Given the description of an element on the screen output the (x, y) to click on. 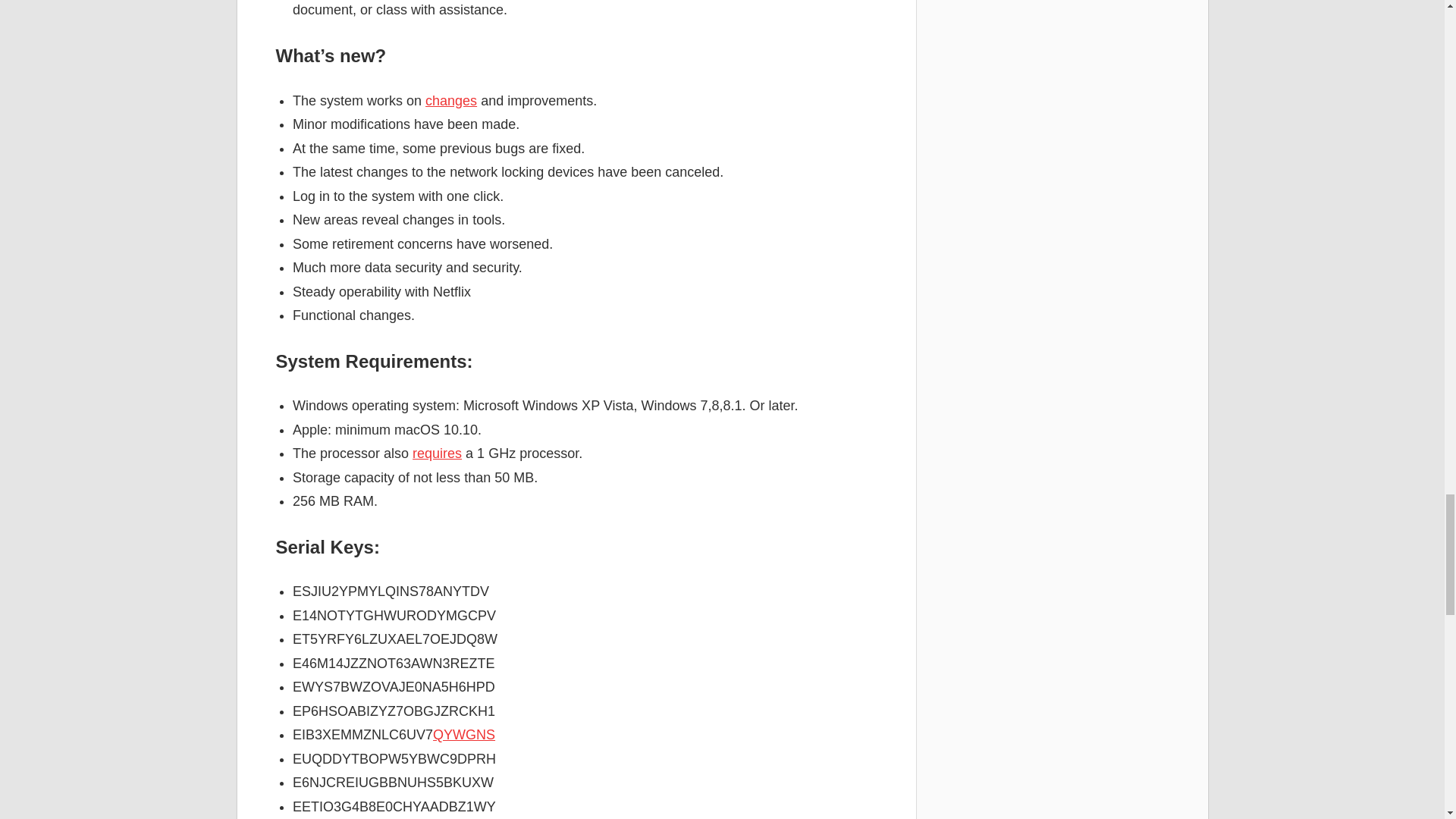
requires (436, 453)
changes (451, 99)
QYWGNS (463, 734)
